Given the description of an element on the screen output the (x, y) to click on. 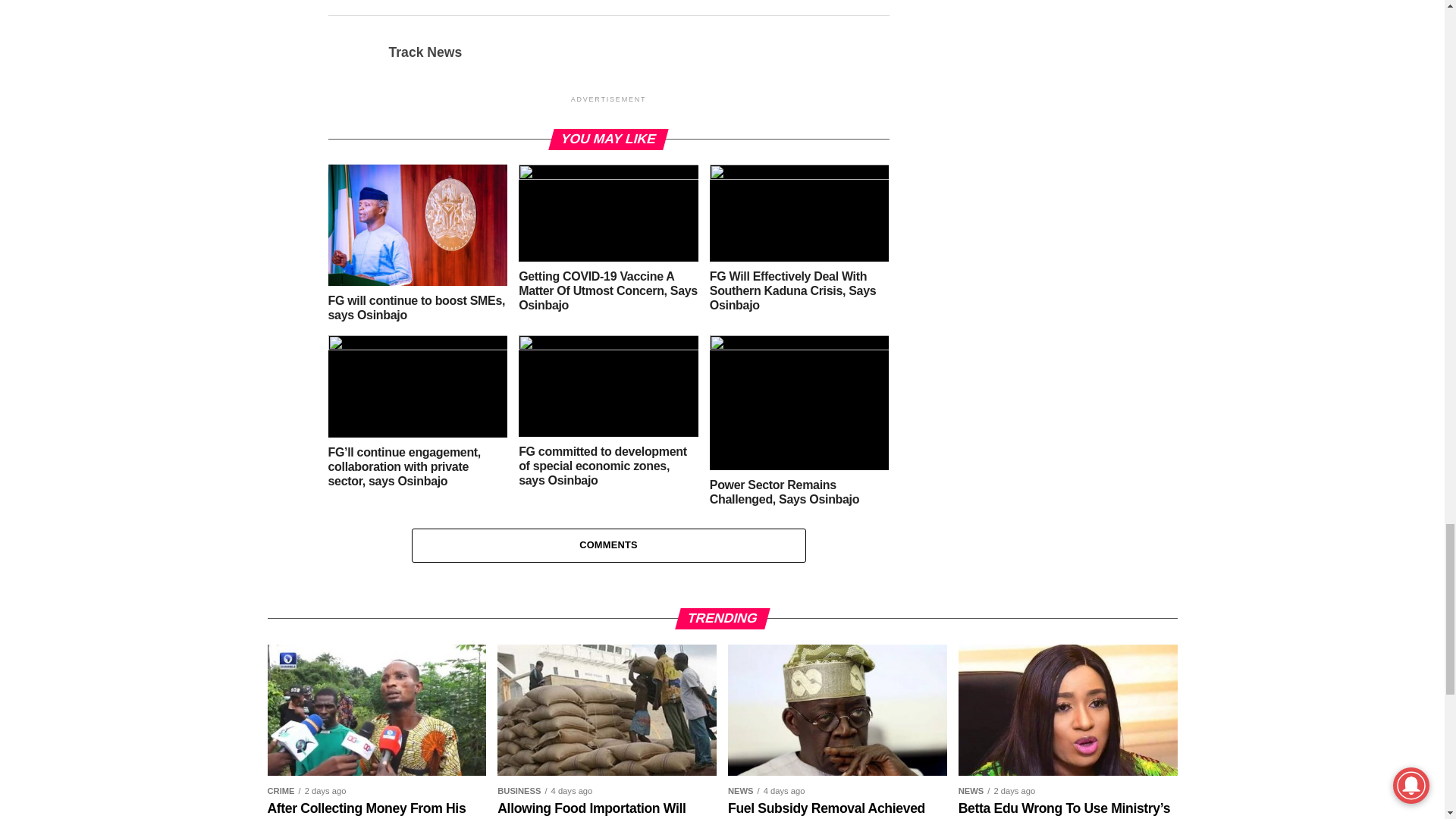
Posts by Track News (424, 52)
